Given the description of an element on the screen output the (x, y) to click on. 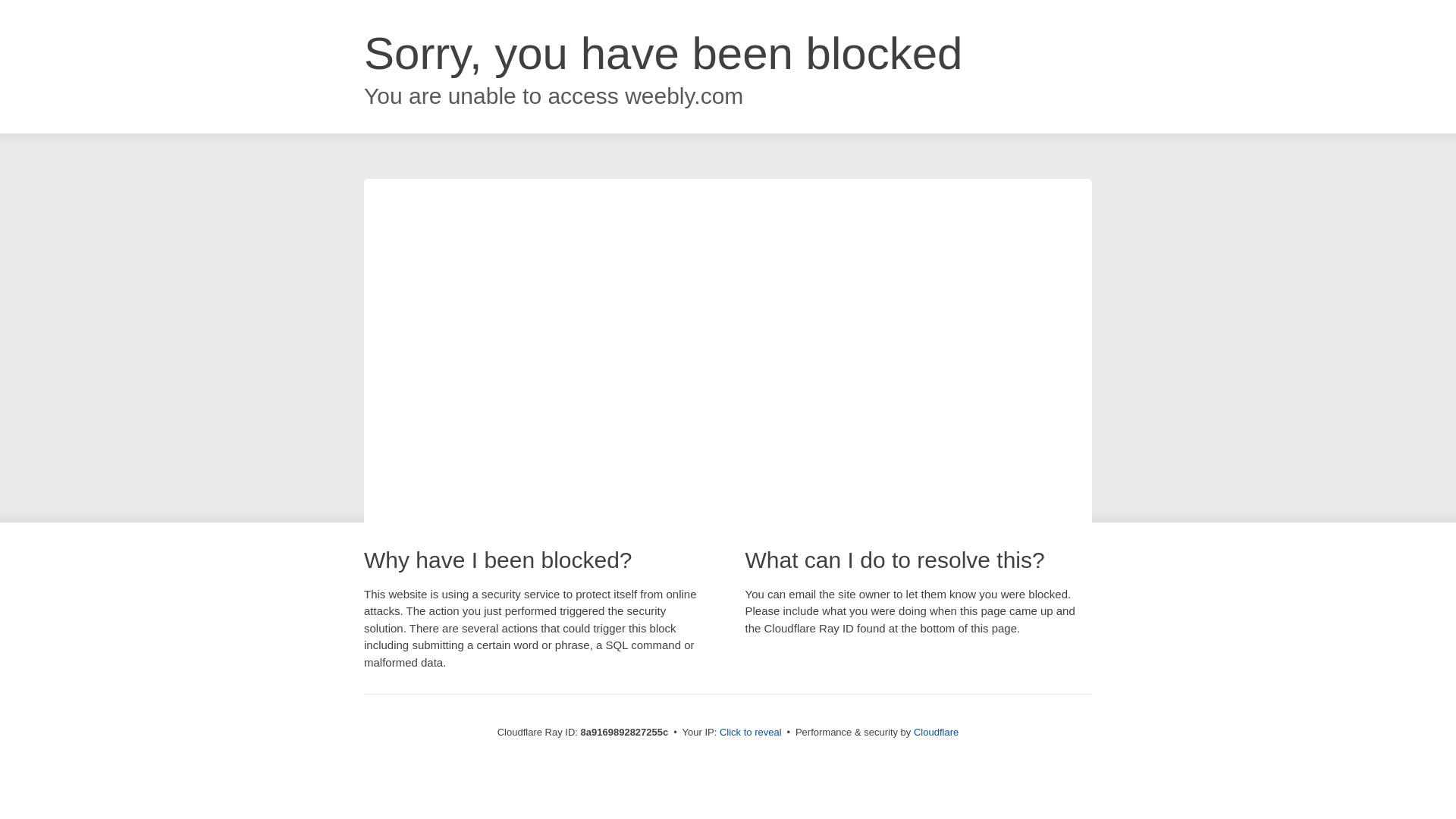
Click to reveal (750, 732)
Cloudflare (936, 731)
